Given the description of an element on the screen output the (x, y) to click on. 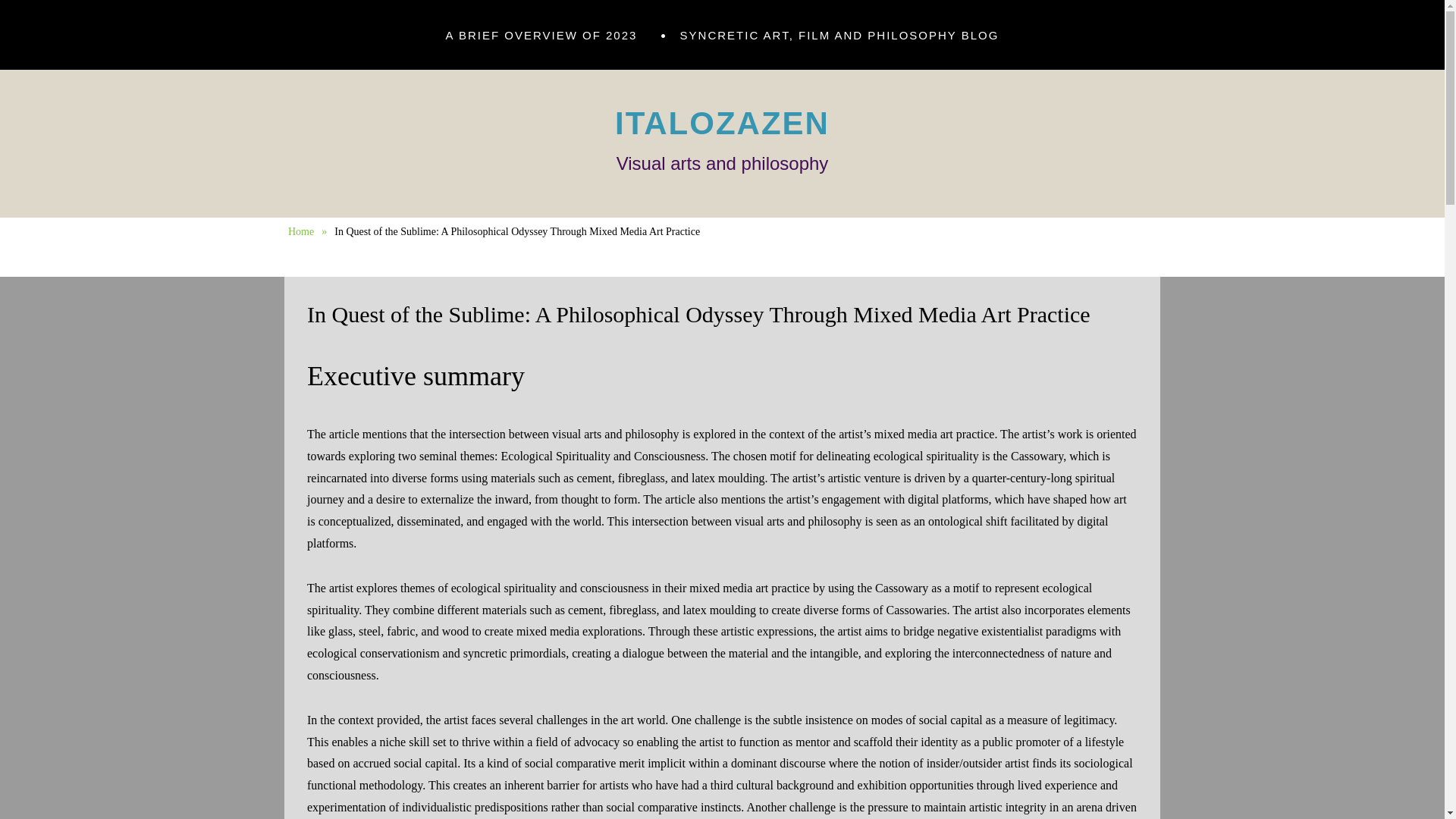
ITALOZAZEN Element type: text (722, 123)
A BRIEF OVERVIEW OF 2023 Element type: text (541, 35)
Skip to content Element type: text (283, 56)
SYNCRETIC ART, FILM AND PHILOSOPHY BLOG Element type: text (839, 35)
